Given the description of an element on the screen output the (x, y) to click on. 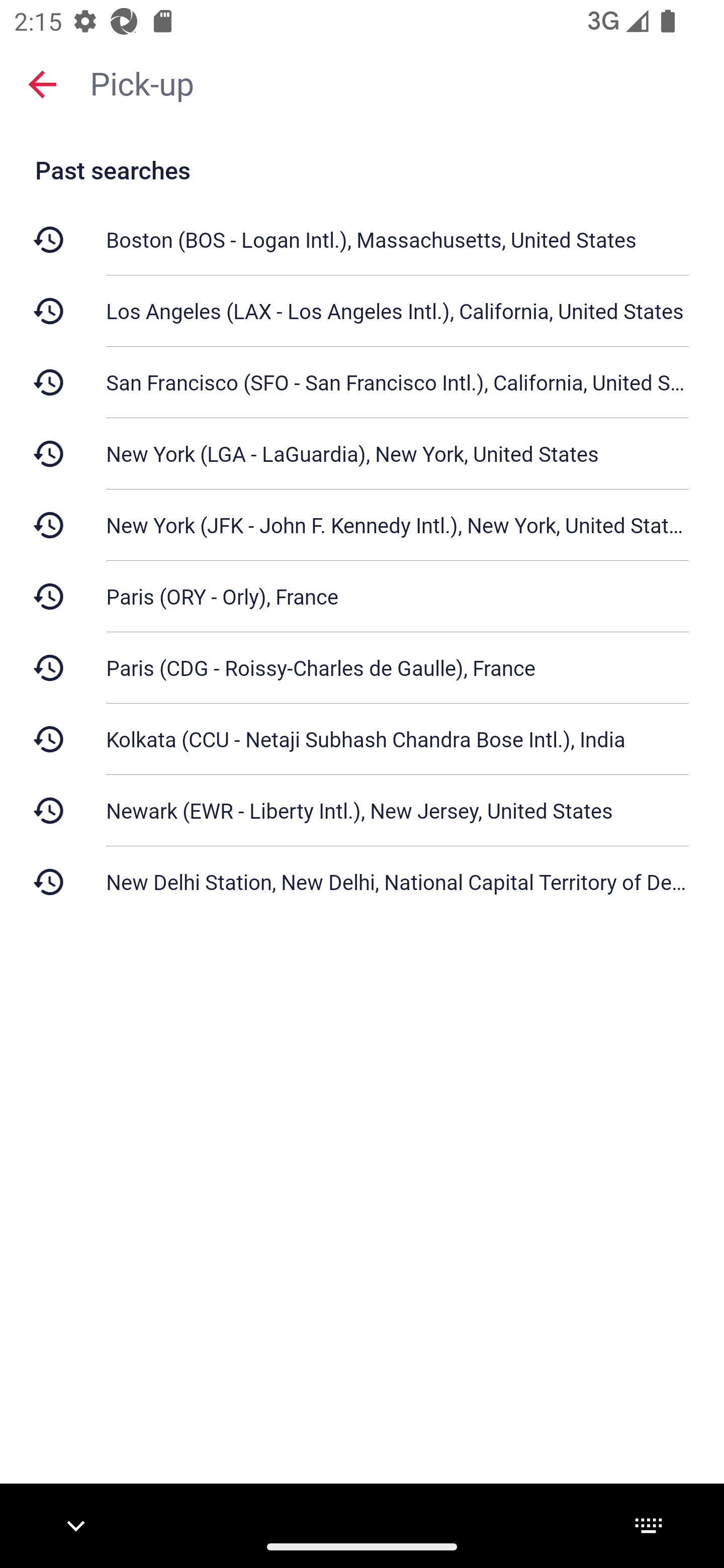
Pick-up,  (397, 82)
Close search screen (41, 83)
